Given the description of an element on the screen output the (x, y) to click on. 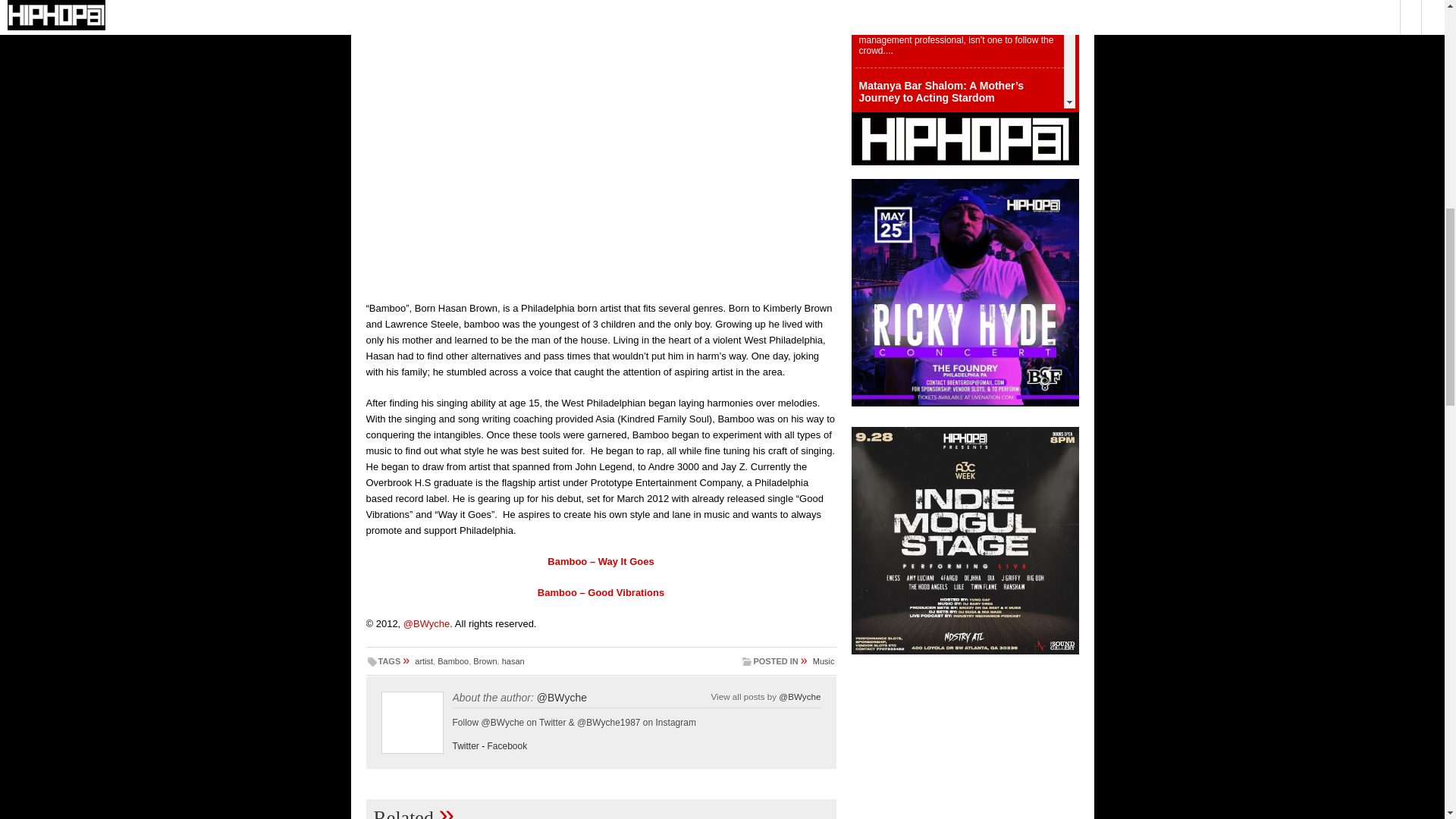
hasan (513, 660)
Facebook (507, 746)
Brown (484, 660)
Twitter (465, 746)
Bamboo (453, 660)
artist (423, 660)
Music (823, 660)
Bamboo-Way-it-goes   (600, 142)
